Given the description of an element on the screen output the (x, y) to click on. 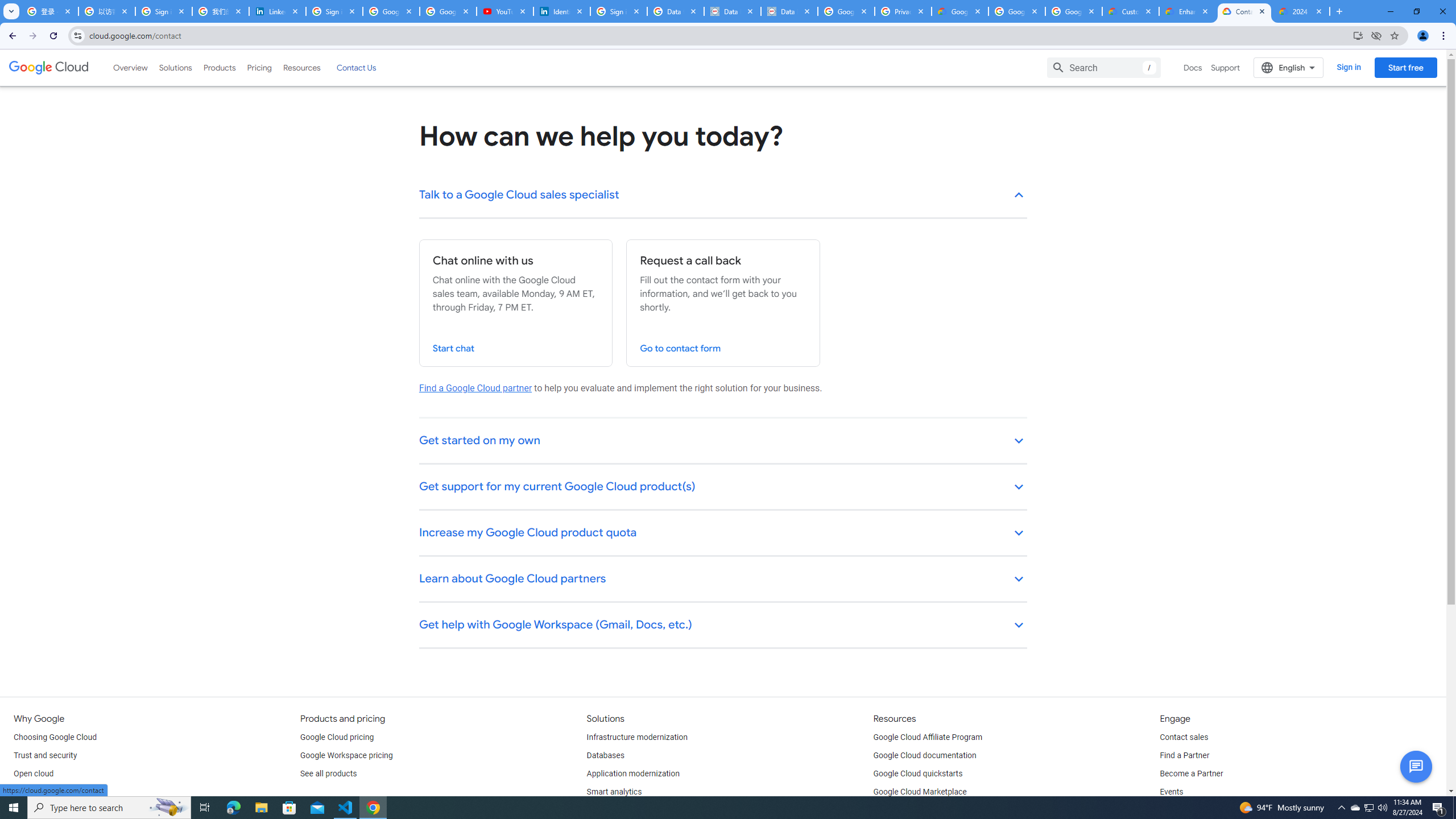
New Tab (1338, 11)
Identity verification via Persona | LinkedIn Help (561, 11)
English (1288, 67)
View site information (77, 35)
Google Cloud Terms Directory | Google Cloud (959, 11)
Third-party cookies blocked (1376, 35)
Back (10, 35)
Trust and security (45, 755)
Customer Care | Google Cloud (1130, 11)
Search (1103, 67)
Find a Partner (1183, 755)
Products (218, 67)
